Given the description of an element on the screen output the (x, y) to click on. 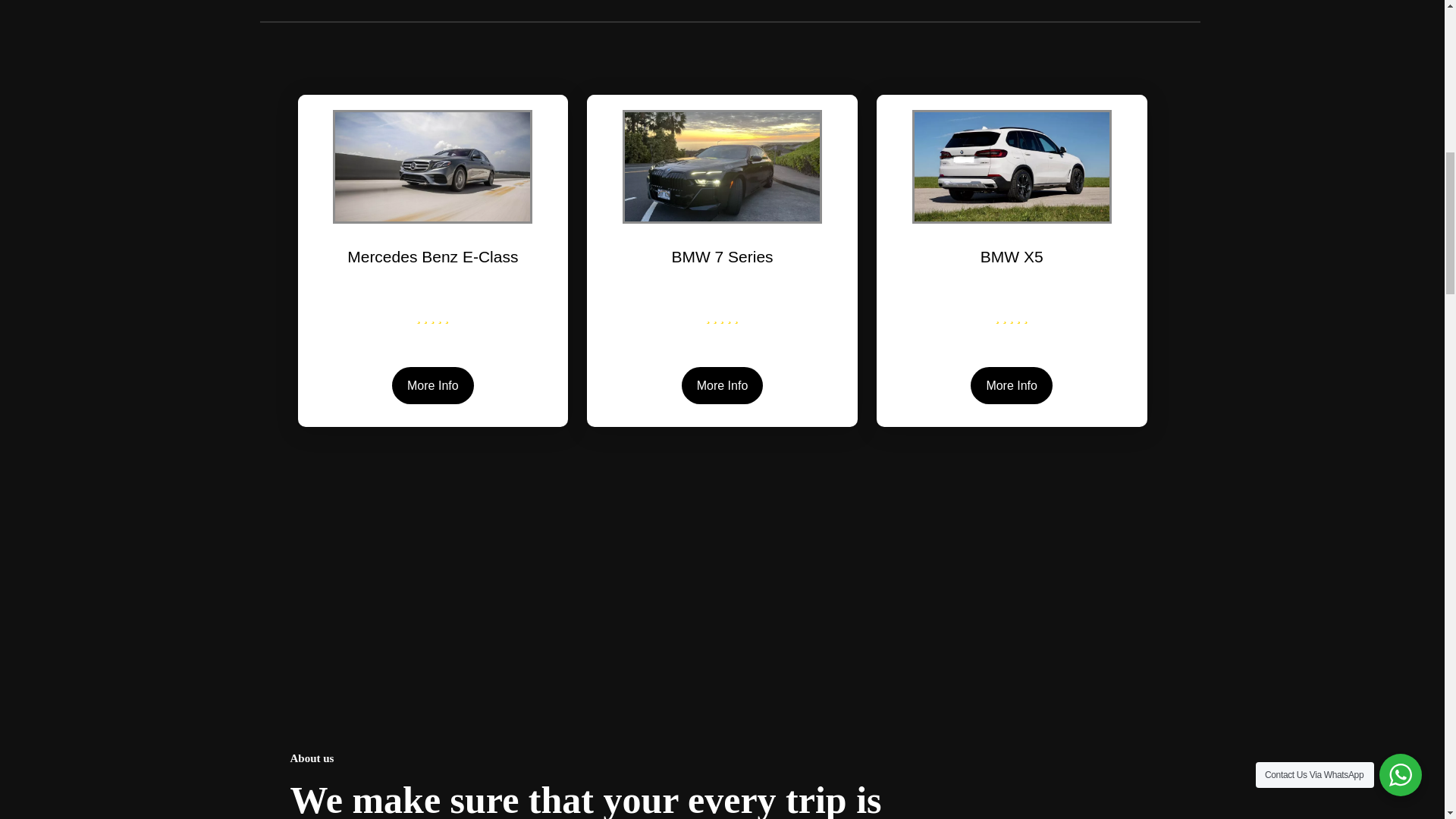
More Info (432, 385)
More Info (1011, 385)
More Info (721, 385)
